Given the description of an element on the screen output the (x, y) to click on. 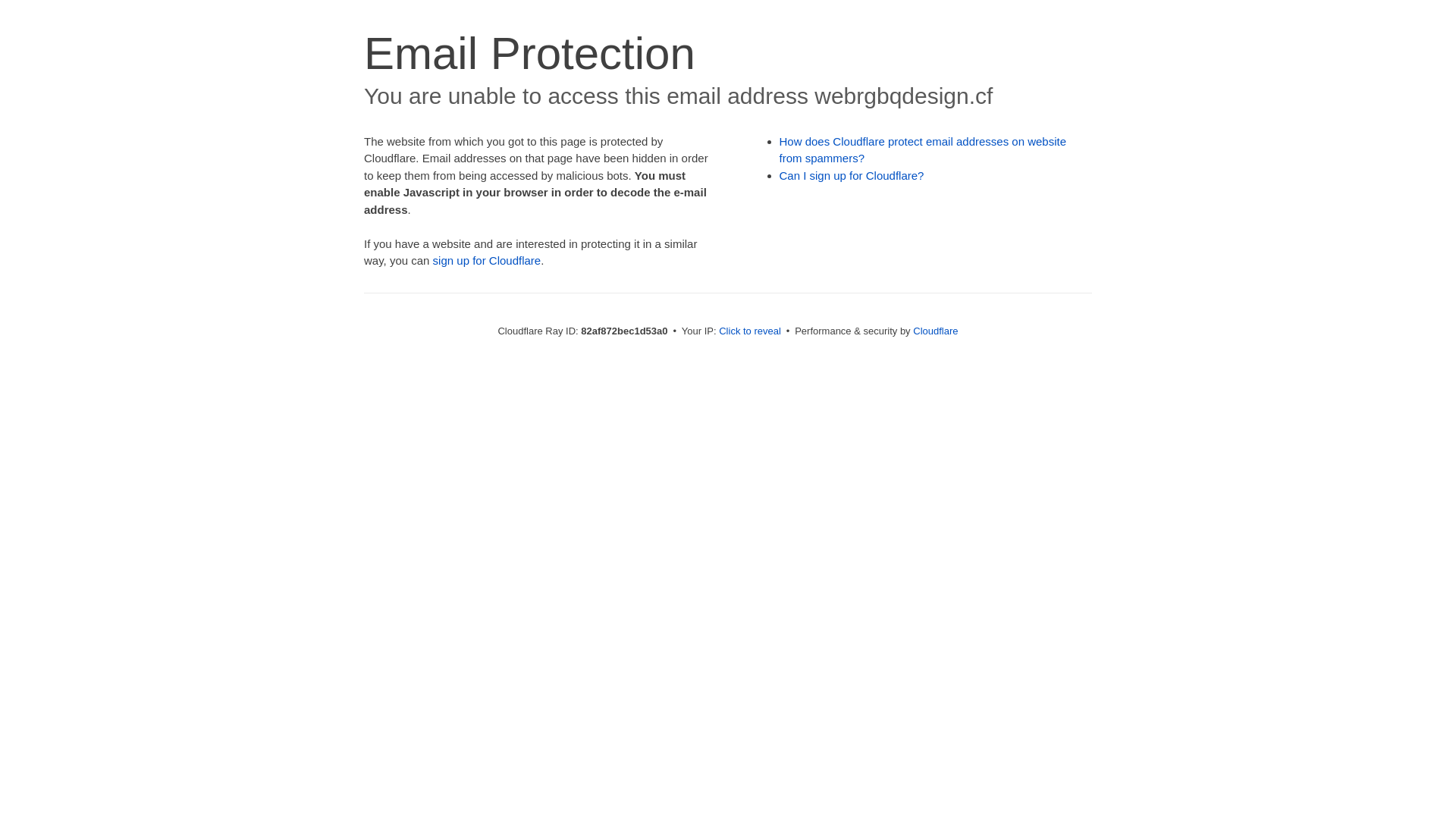
Cloudflare Element type: text (935, 330)
Can I sign up for Cloudflare? Element type: text (851, 175)
Click to reveal Element type: text (749, 330)
sign up for Cloudflare Element type: text (487, 260)
